Given the description of an element on the screen output the (x, y) to click on. 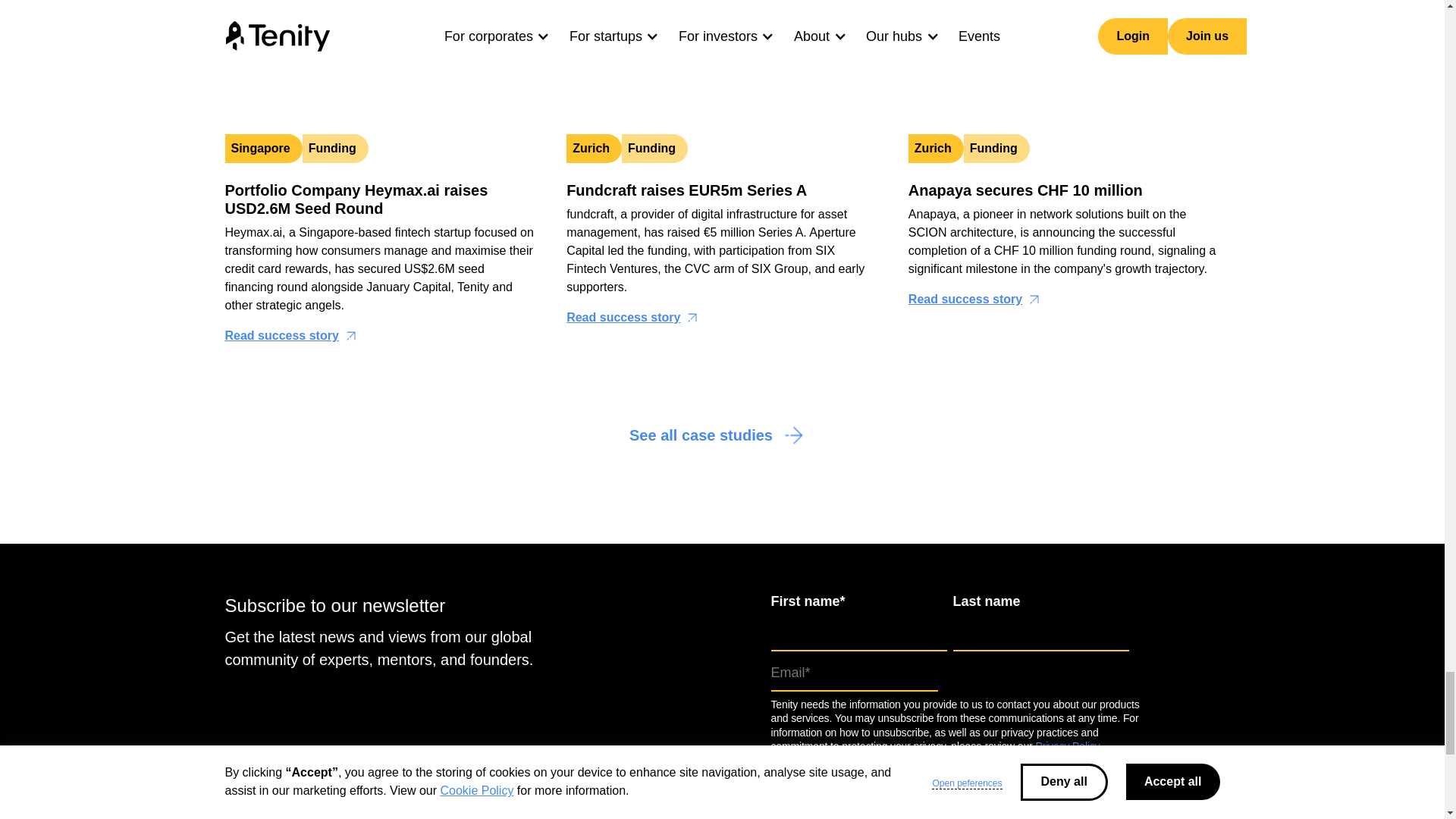
Subscribe (817, 770)
